Given the description of an element on the screen output the (x, y) to click on. 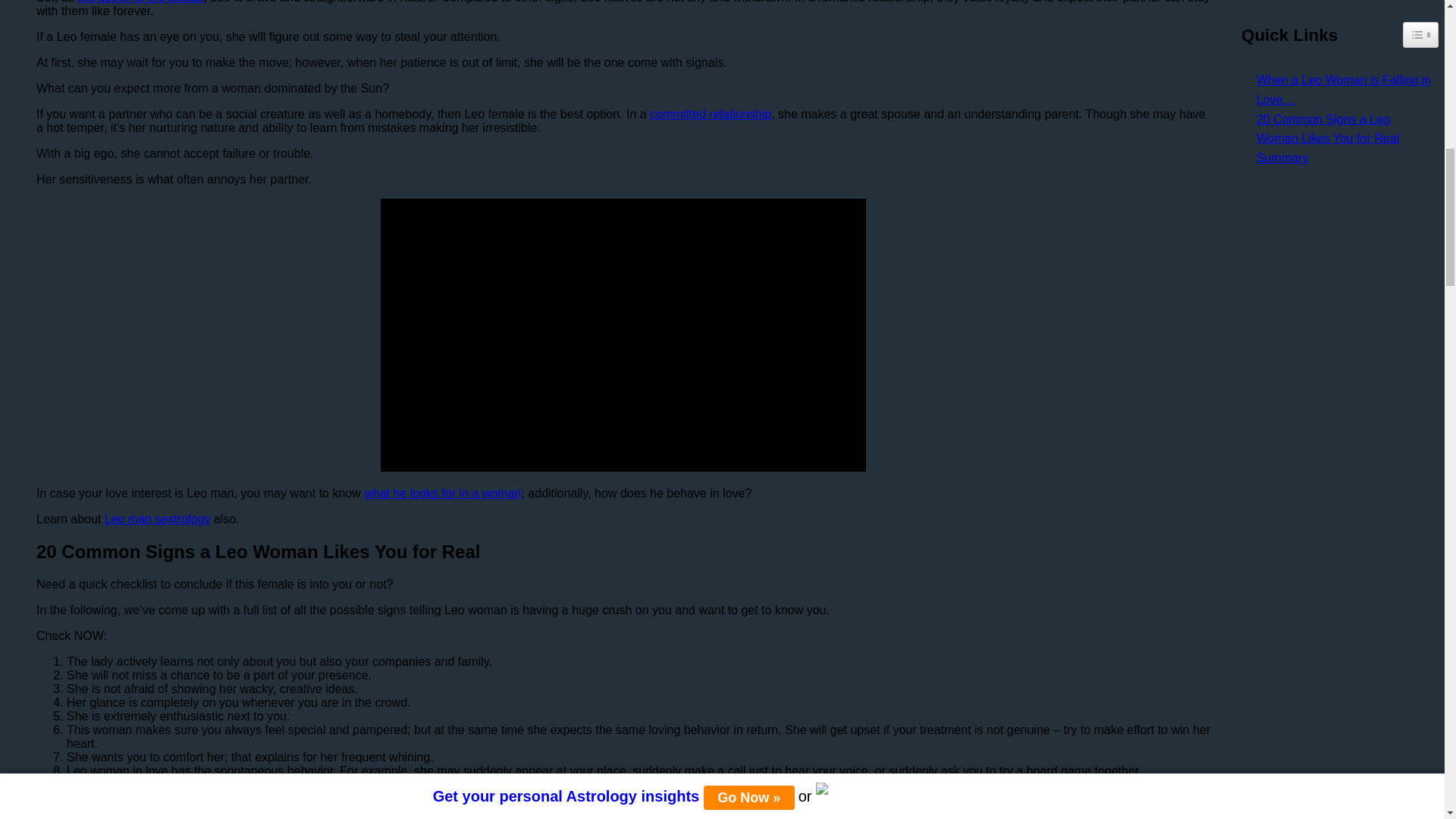
what he looks for in a woman (442, 492)
Leo man sextrology (157, 518)
the queen of the zodiac (140, 2)
committed relationship (710, 113)
